Given the description of an element on the screen output the (x, y) to click on. 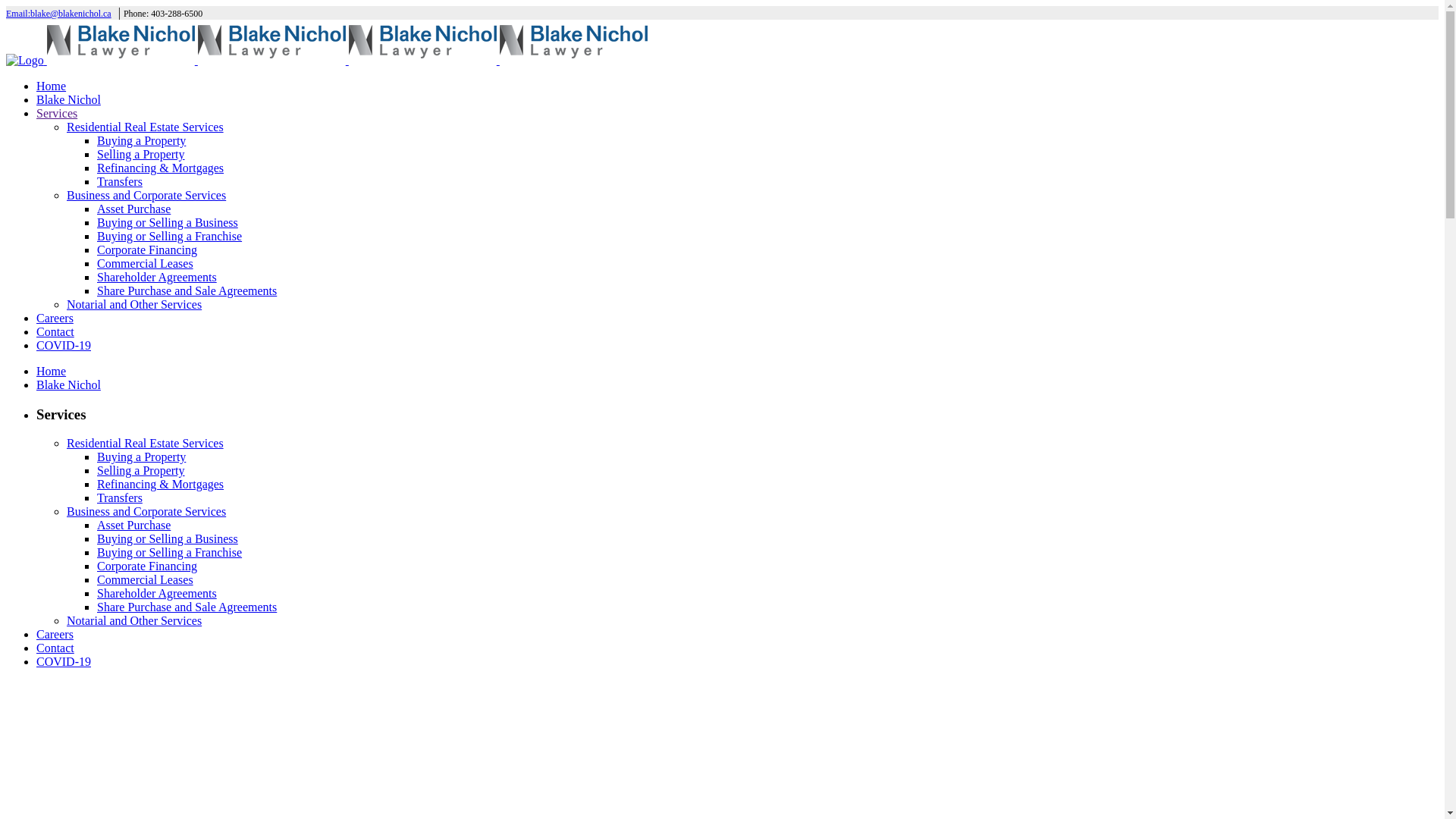
Commercial Leases Element type: text (145, 579)
Blake Nichol Element type: text (68, 99)
Transfers Element type: text (119, 497)
Home Element type: text (50, 370)
Buying or Selling a Franchise Element type: text (169, 552)
Residential Real Estate Services Element type: text (144, 126)
COVID-19 Element type: text (63, 661)
Residential Real Estate Services Element type: text (144, 442)
Share Purchase and Sale Agreements Element type: text (186, 290)
Share Purchase and Sale Agreements Element type: text (186, 606)
Notarial and Other Services Element type: text (133, 304)
Careers Element type: text (54, 317)
Notarial and Other Services Element type: text (133, 620)
Buying a Property Element type: text (141, 140)
Corporate Financing Element type: text (147, 249)
Buying or Selling a Business Element type: text (167, 222)
Commercial Leases Element type: text (145, 263)
Shareholder Agreements Element type: text (156, 276)
Selling a Property Element type: text (141, 470)
Business and Corporate Services Element type: text (145, 511)
Email:blake@blakenichol.ca Element type: text (62, 12)
Corporate Financing Element type: text (147, 565)
Home Element type: text (50, 85)
Refinancing & Mortgages Element type: text (160, 167)
Buying or Selling a Business Element type: text (167, 538)
Business and Corporate Services Element type: text (145, 194)
COVID-19 Element type: text (63, 344)
Blake Nichol Element type: text (68, 384)
Contact Element type: text (55, 647)
Buying or Selling a Franchise Element type: text (169, 235)
Careers Element type: text (54, 633)
Services Element type: text (56, 112)
Refinancing & Mortgages Element type: text (160, 483)
Shareholder Agreements Element type: text (156, 592)
Selling a Property Element type: text (141, 153)
Buying a Property Element type: text (141, 456)
Asset Purchase Element type: text (133, 524)
Transfers Element type: text (119, 181)
Asset Purchase Element type: text (133, 208)
Contact Element type: text (55, 331)
